Given the description of an element on the screen output the (x, y) to click on. 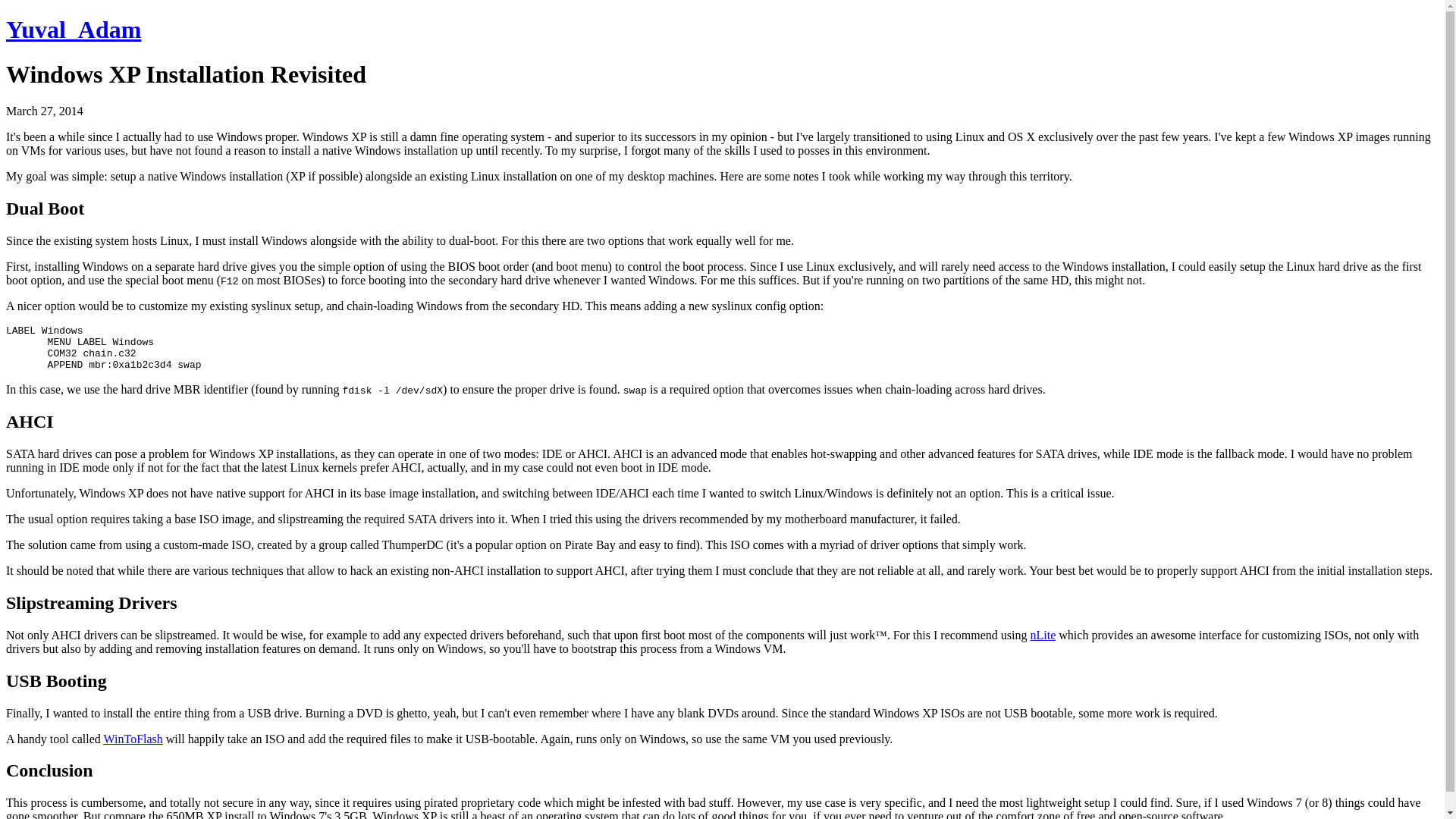
nLite (1043, 634)
WinToFlash (133, 738)
